Given the description of an element on the screen output the (x, y) to click on. 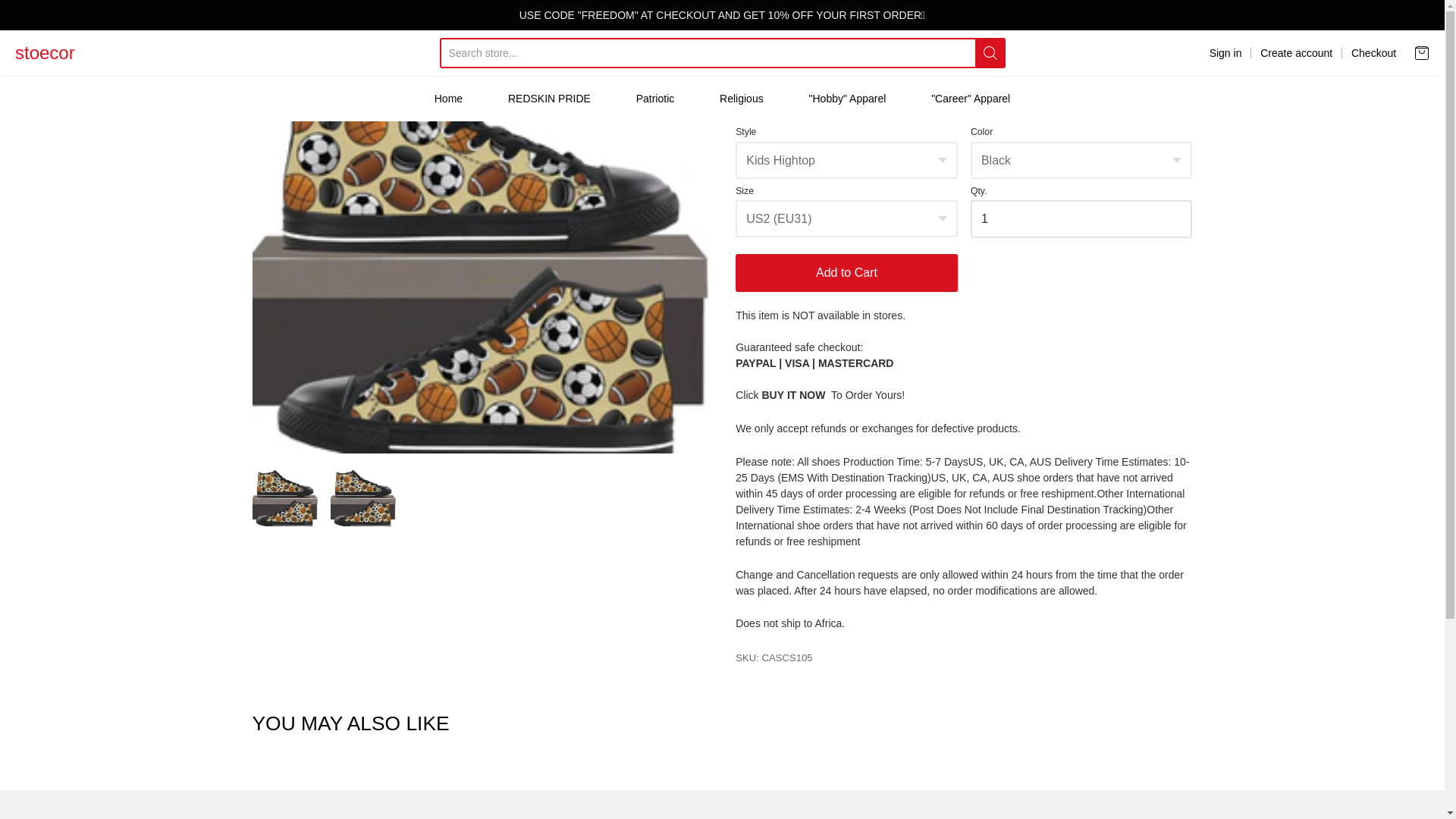
Home (448, 97)
Religious (740, 97)
Create account (1296, 52)
Checkout (1373, 52)
1 (1081, 310)
stoecor (44, 52)
REDSKIN PRIDE (549, 97)
"Hobby" Apparel (847, 97)
Patriotic (655, 97)
Sports Ball Patterns - Kids Hightop (284, 589)
Home (263, 135)
"Career" Apparel (970, 97)
Sign in (1225, 52)
Sports Ball Patterns - Kids Hightop (363, 589)
